Given the description of an element on the screen output the (x, y) to click on. 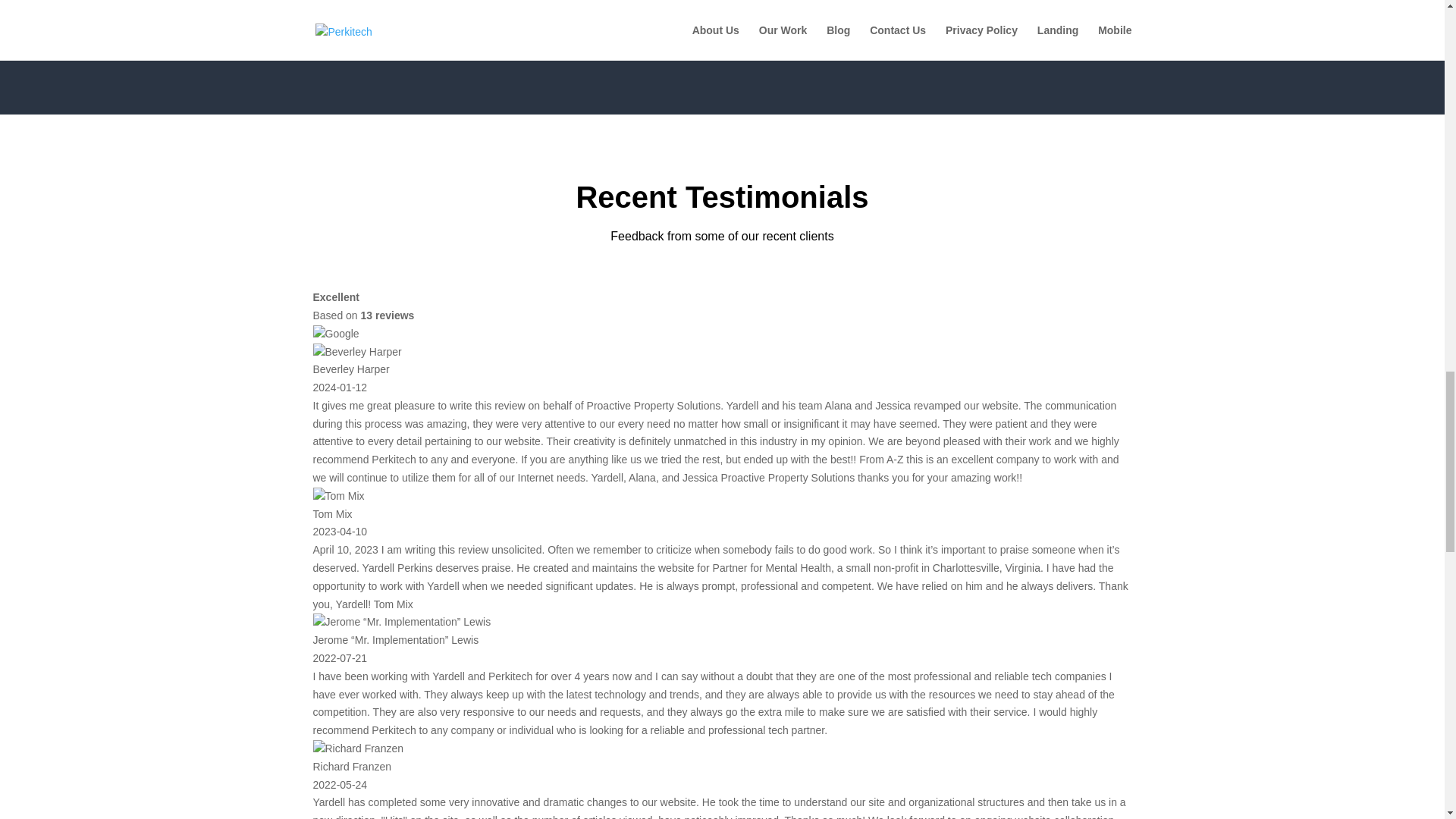
View More (721, 34)
